Given the description of an element on the screen output the (x, y) to click on. 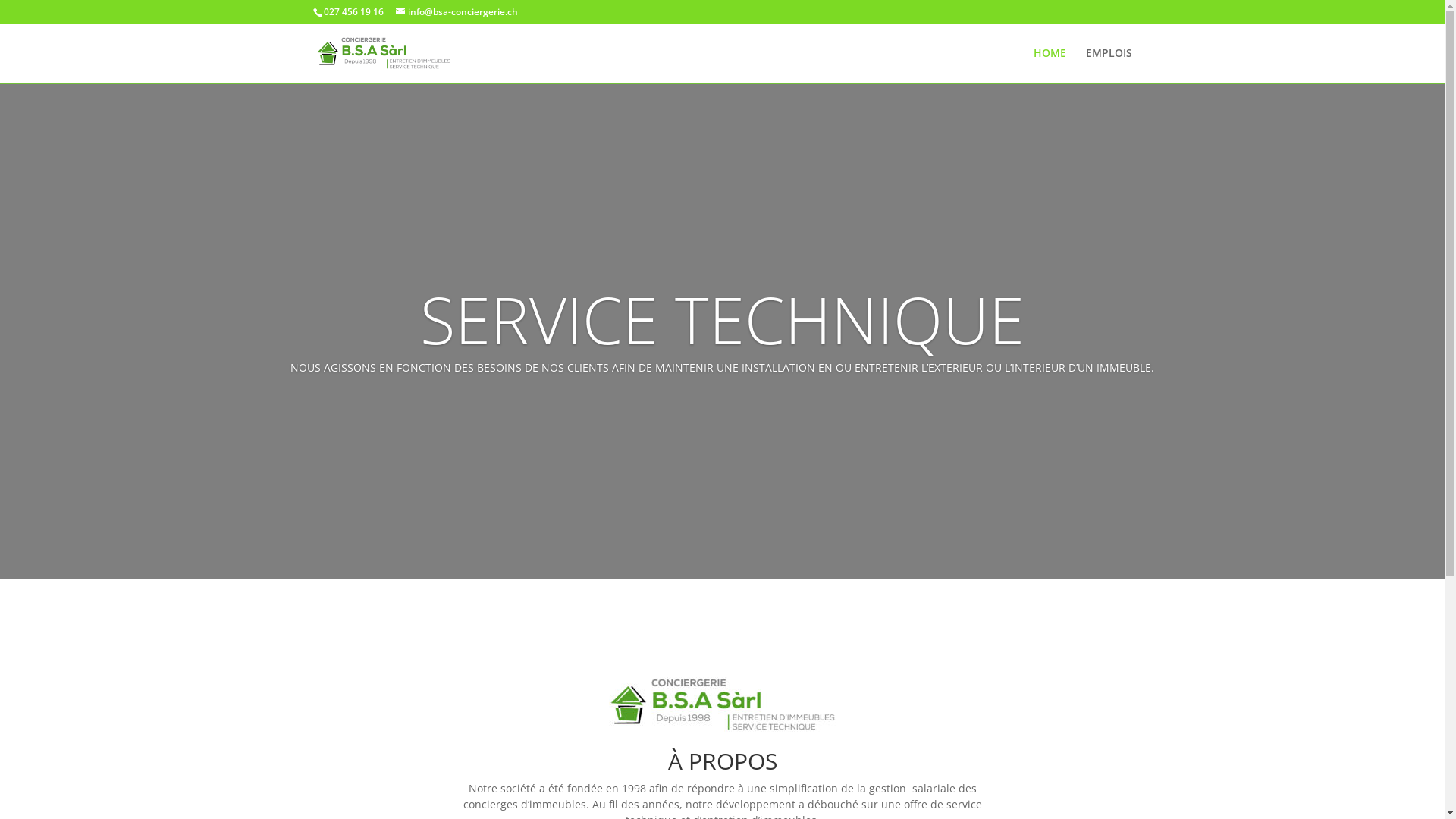
EMPLOIS Element type: text (1108, 65)
info@bsa-conciergerie.ch Element type: text (456, 11)
SERVICE TECHNIQUE Element type: text (722, 319)
HOME Element type: text (1048, 65)
